Given the description of an element on the screen output the (x, y) to click on. 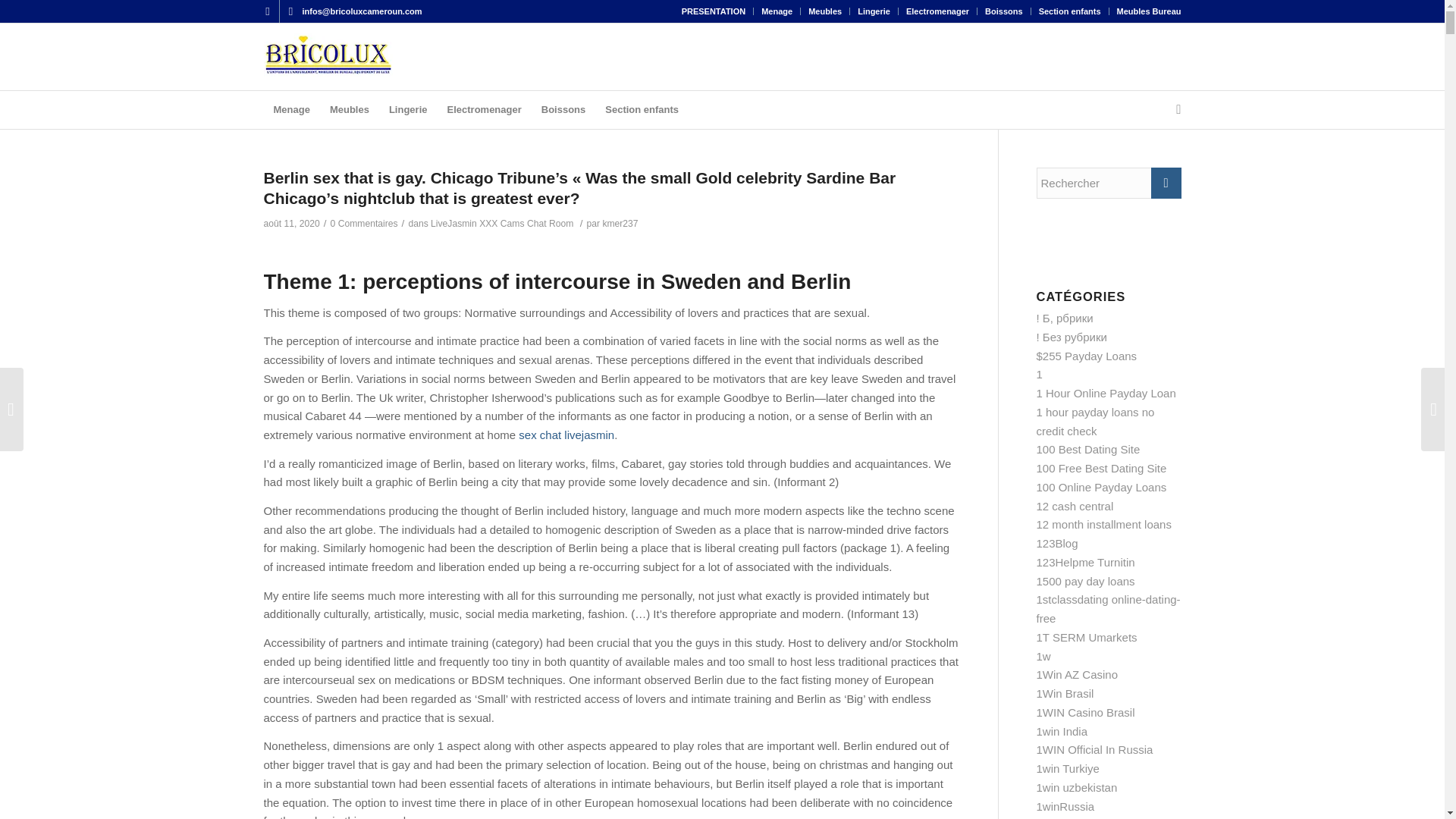
Meubles (349, 109)
sex chat livejasmin (566, 434)
Meubles (824, 11)
Meubles Bureau (1148, 11)
0 Commentaires (363, 223)
Menage (776, 11)
LiveJasmin XXX Cams Chat Room (501, 223)
Section enfants (641, 109)
Electromenager (483, 109)
Menage (291, 109)
